Given the description of an element on the screen output the (x, y) to click on. 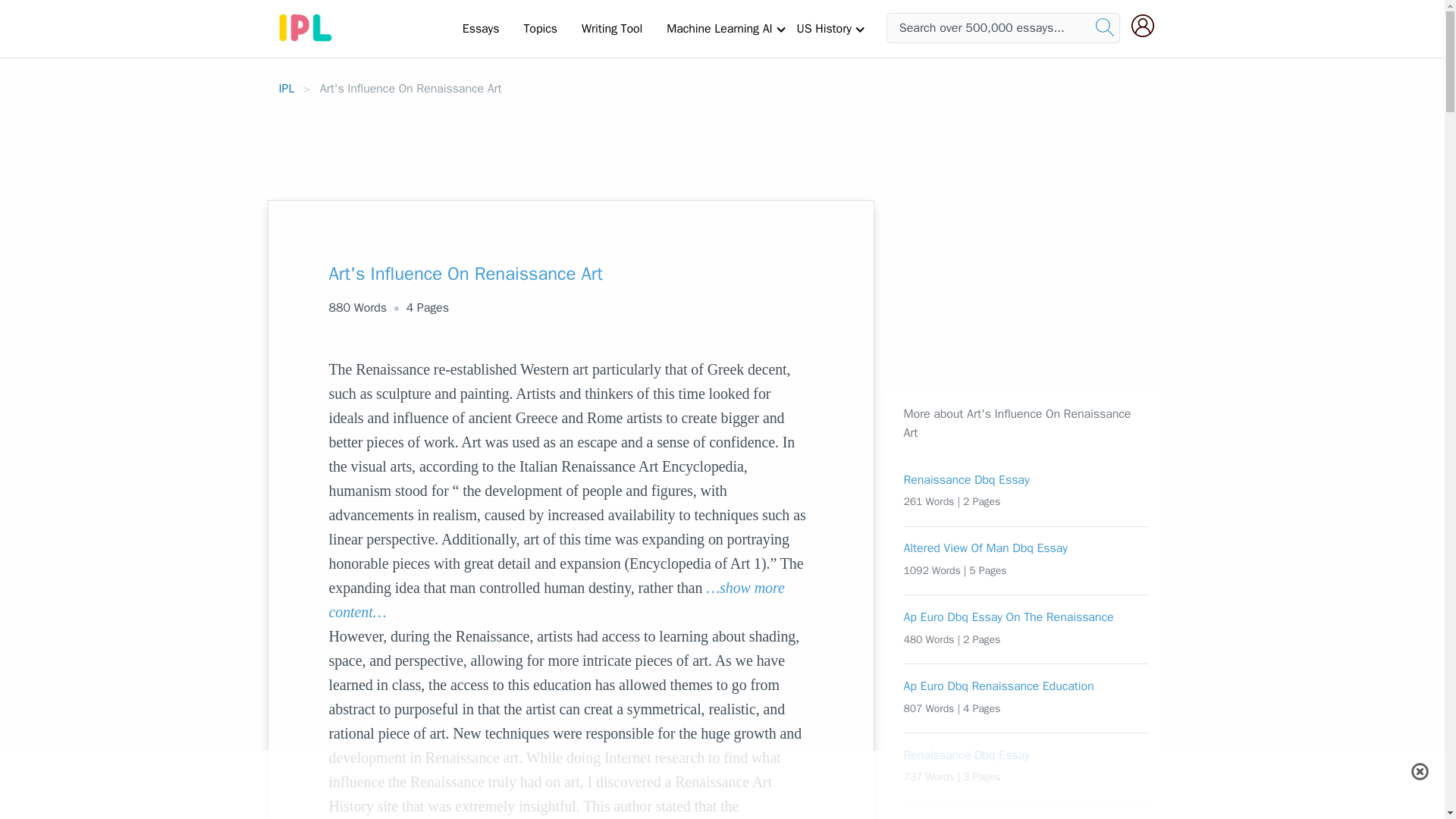
3rd party ad content (721, 785)
Essays (480, 28)
3rd party ad content (999, 294)
Machine Learning AI (718, 28)
US History (823, 28)
IPL (287, 88)
Topics (540, 28)
3rd party ad content (722, 141)
Writing Tool (611, 28)
